Given the description of an element on the screen output the (x, y) to click on. 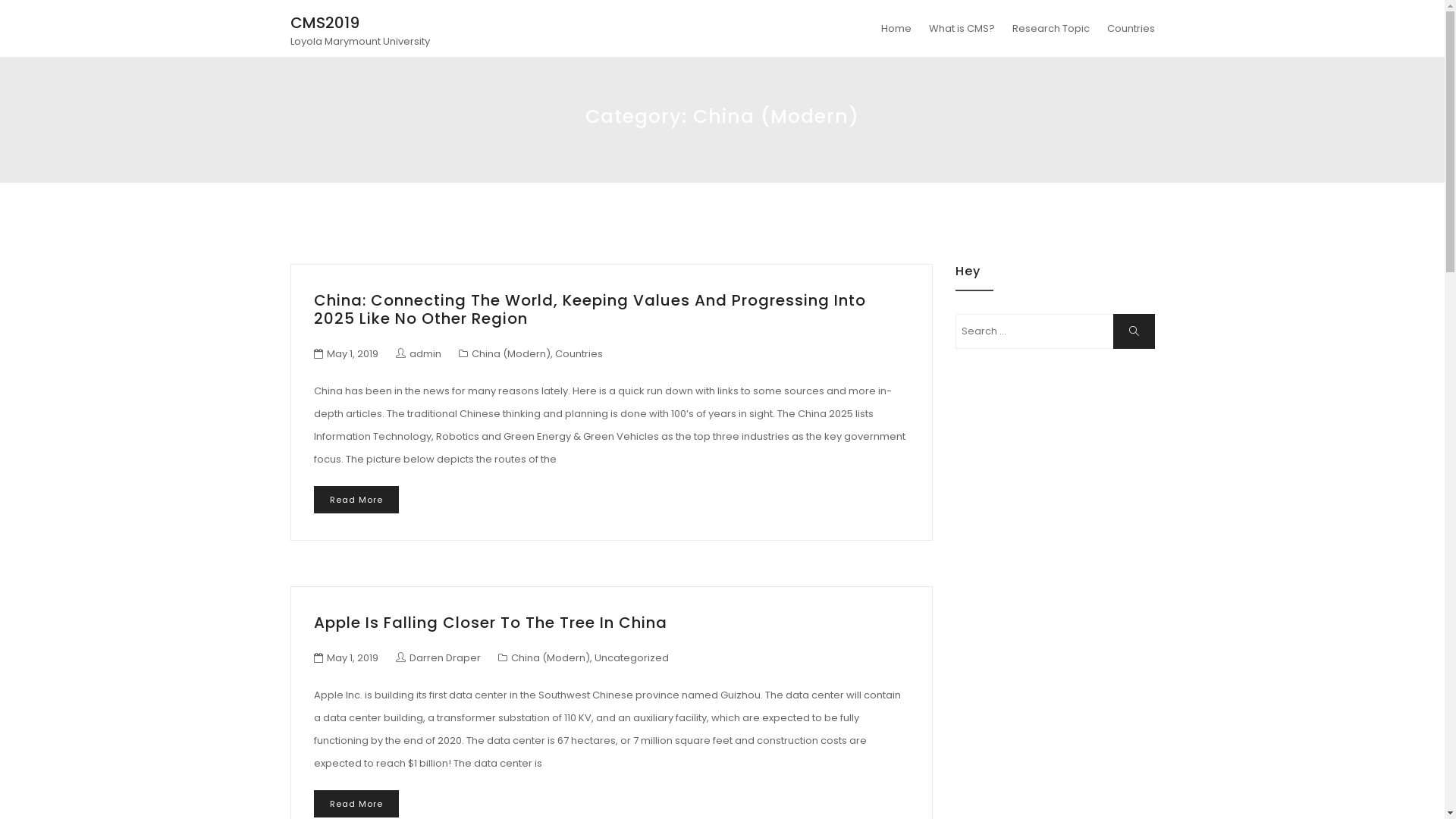
What is CMS? Element type: text (960, 28)
Countries Element type: text (1126, 28)
Research Topic Element type: text (1050, 28)
Apple Is Falling Closer To The Tree In China Element type: text (490, 622)
Darren Draper Element type: text (437, 657)
CMS2019 Element type: text (323, 22)
China (Modern) Element type: text (510, 353)
Uncategorized Element type: text (631, 657)
Home Element type: text (896, 28)
May 1, 2019 Element type: text (351, 657)
Countries Element type: text (578, 353)
Search Element type: text (1133, 330)
May 1, 2019 Element type: text (351, 353)
Read More Element type: text (355, 499)
admin Element type: text (418, 353)
Read More Element type: text (355, 803)
China (Modern) Element type: text (550, 657)
